Given the description of an element on the screen output the (x, y) to click on. 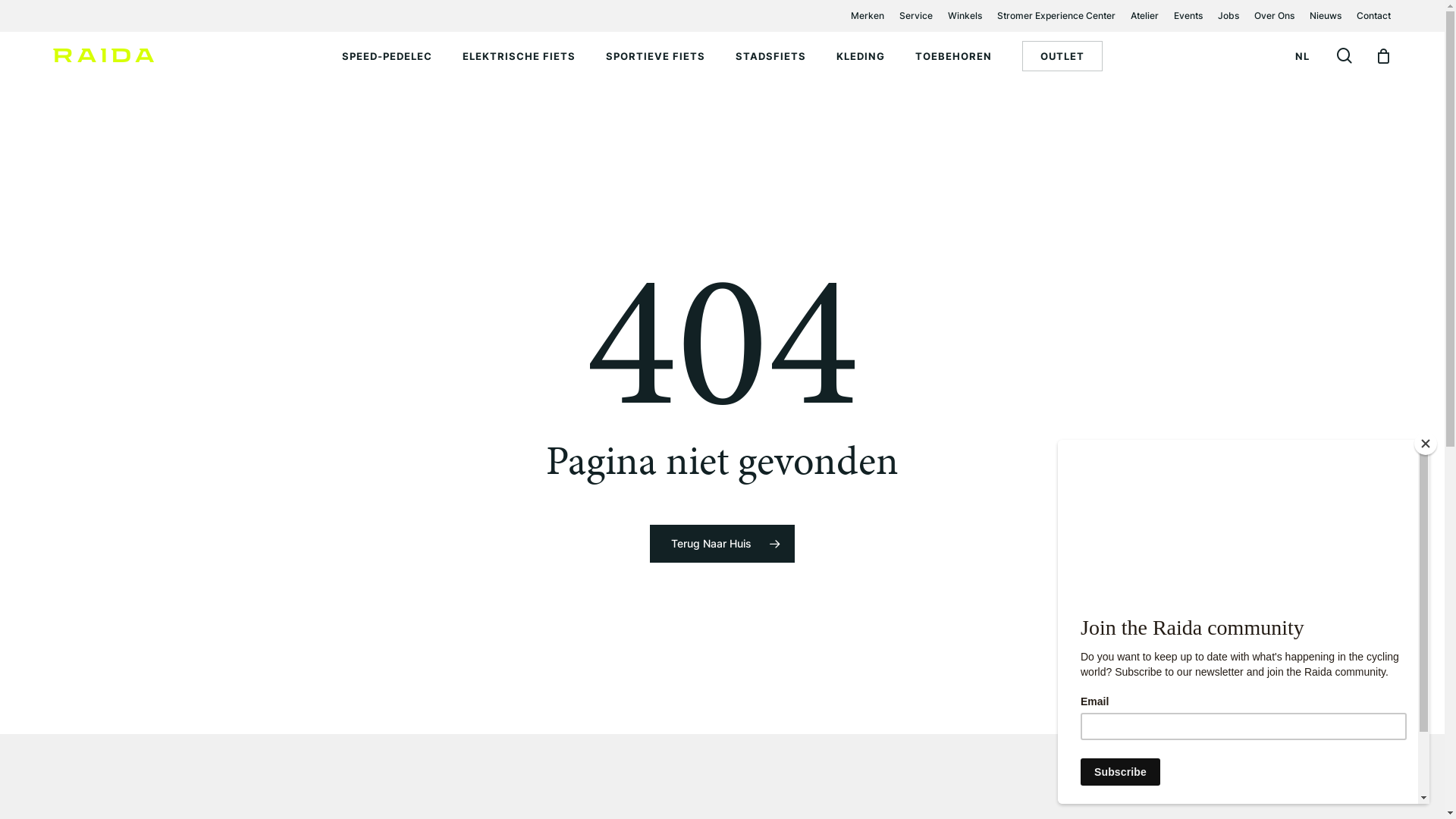
Winkels Element type: text (964, 15)
SPEED-PEDELEC Element type: text (387, 56)
Stromer Experience Center Element type: text (1056, 15)
zoek Element type: text (1344, 55)
STADSFIETS Element type: text (770, 56)
Over Ons Element type: text (1274, 15)
ELEKTRISCHE FIETS Element type: text (518, 56)
Contact Element type: text (1373, 15)
Terug Naar Huis Element type: text (721, 543)
Nieuws Element type: text (1325, 15)
Service Element type: text (915, 15)
Events Element type: text (1187, 15)
Merken Element type: text (867, 15)
Atelier Element type: text (1144, 15)
KLEDING Element type: text (860, 56)
TOEBEHOREN Element type: text (953, 56)
Jobs Element type: text (1228, 15)
NL Element type: text (1302, 56)
OUTLET Element type: text (1062, 55)
SPORTIEVE FIETS Element type: text (655, 56)
